Given the description of an element on the screen output the (x, y) to click on. 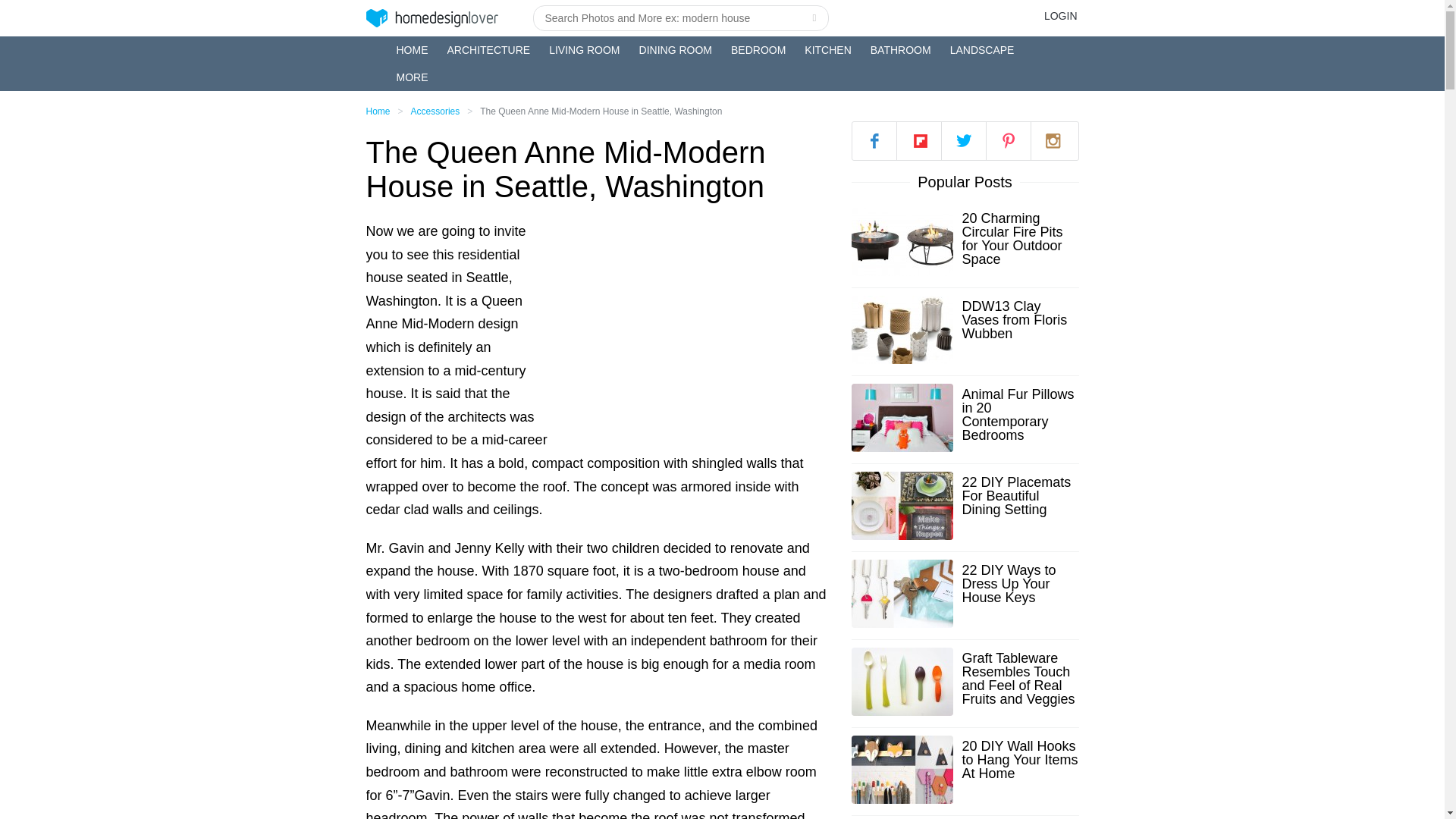
Animal Fur Pillows in 20 Contemporary Bedrooms (1019, 414)
Advertisement (695, 326)
DDW13 Clay Vases from Floris Wubben (1019, 319)
BATHROOM (900, 49)
LANDSCAPE (982, 49)
HOME (412, 49)
Accessories (435, 111)
ARCHITECTURE (488, 49)
KITCHEN (827, 49)
BEDROOM (758, 49)
Home (377, 111)
LIVING ROOM (584, 49)
20 Charming Circular Fire Pits for Your Outdoor Space (1019, 238)
LOGIN (1060, 15)
22 DIY Placemats For Beautiful Dining Setting (1019, 495)
